Given the description of an element on the screen output the (x, y) to click on. 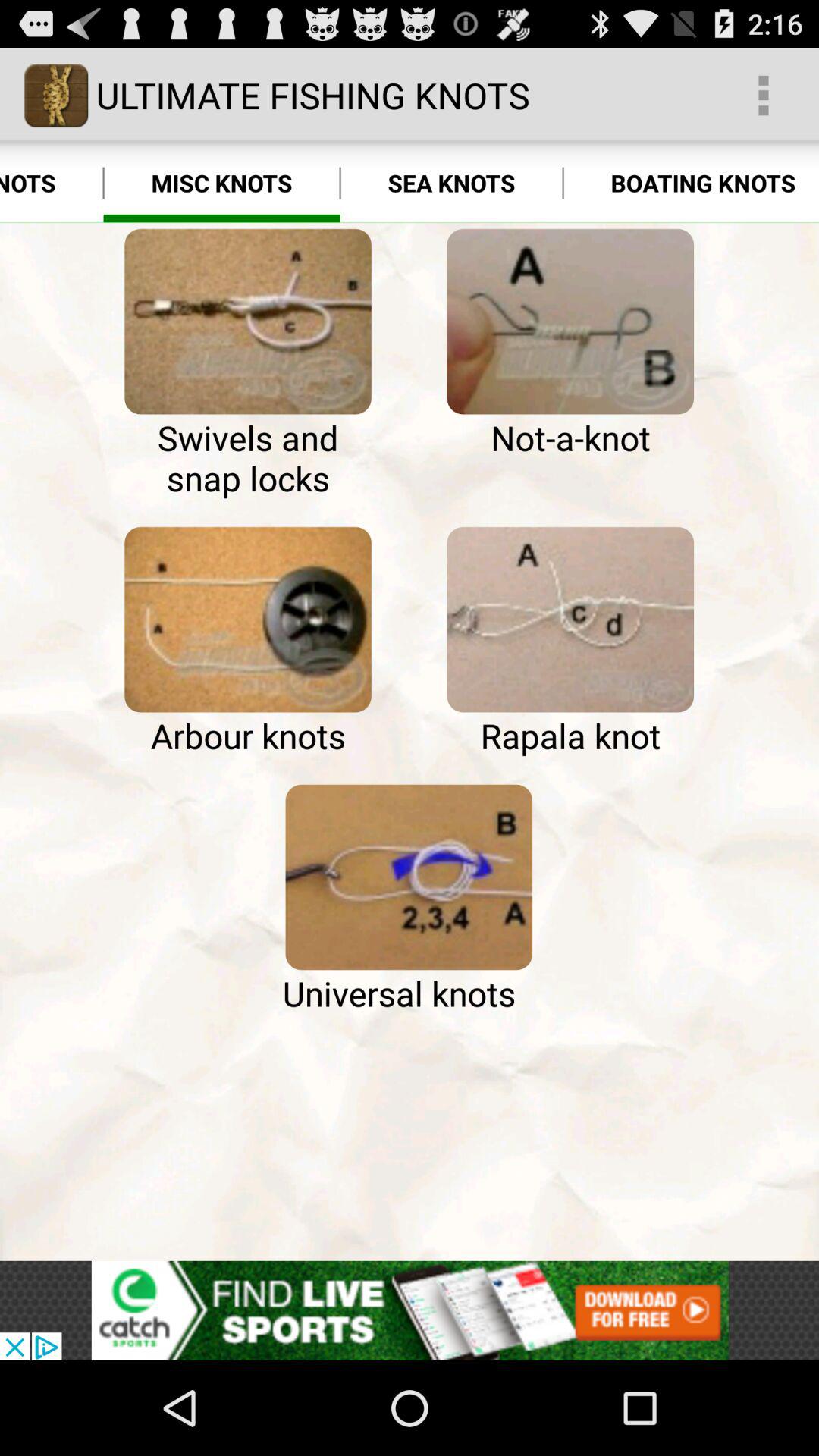
go to advertisement (409, 1310)
